Given the description of an element on the screen output the (x, y) to click on. 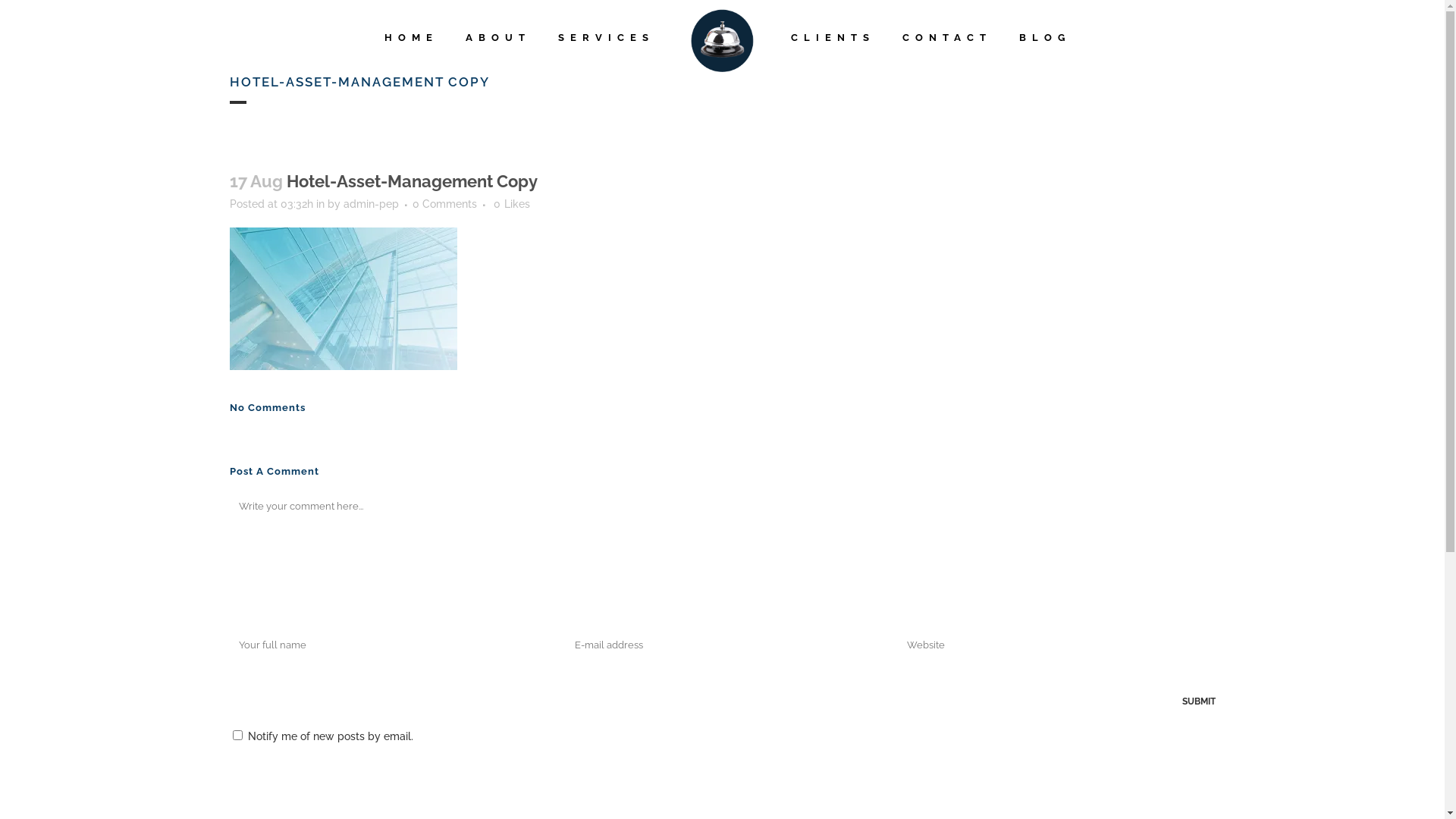
CONTACT Element type: text (946, 37)
0 Likes Element type: text (510, 203)
ABOUT Element type: text (497, 37)
BLOG Element type: text (1044, 37)
HOME Element type: text (410, 37)
howard@kcom.com.au Element type: text (729, 662)
admin-pep Element type: text (370, 203)
CLIENTS Element type: text (832, 37)
www.kcom.com.au Element type: text (728, 722)
Submit Element type: text (1197, 701)
SERVICES Element type: text (606, 37)
0 Comments Element type: text (444, 203)
